Given the description of an element on the screen output the (x, y) to click on. 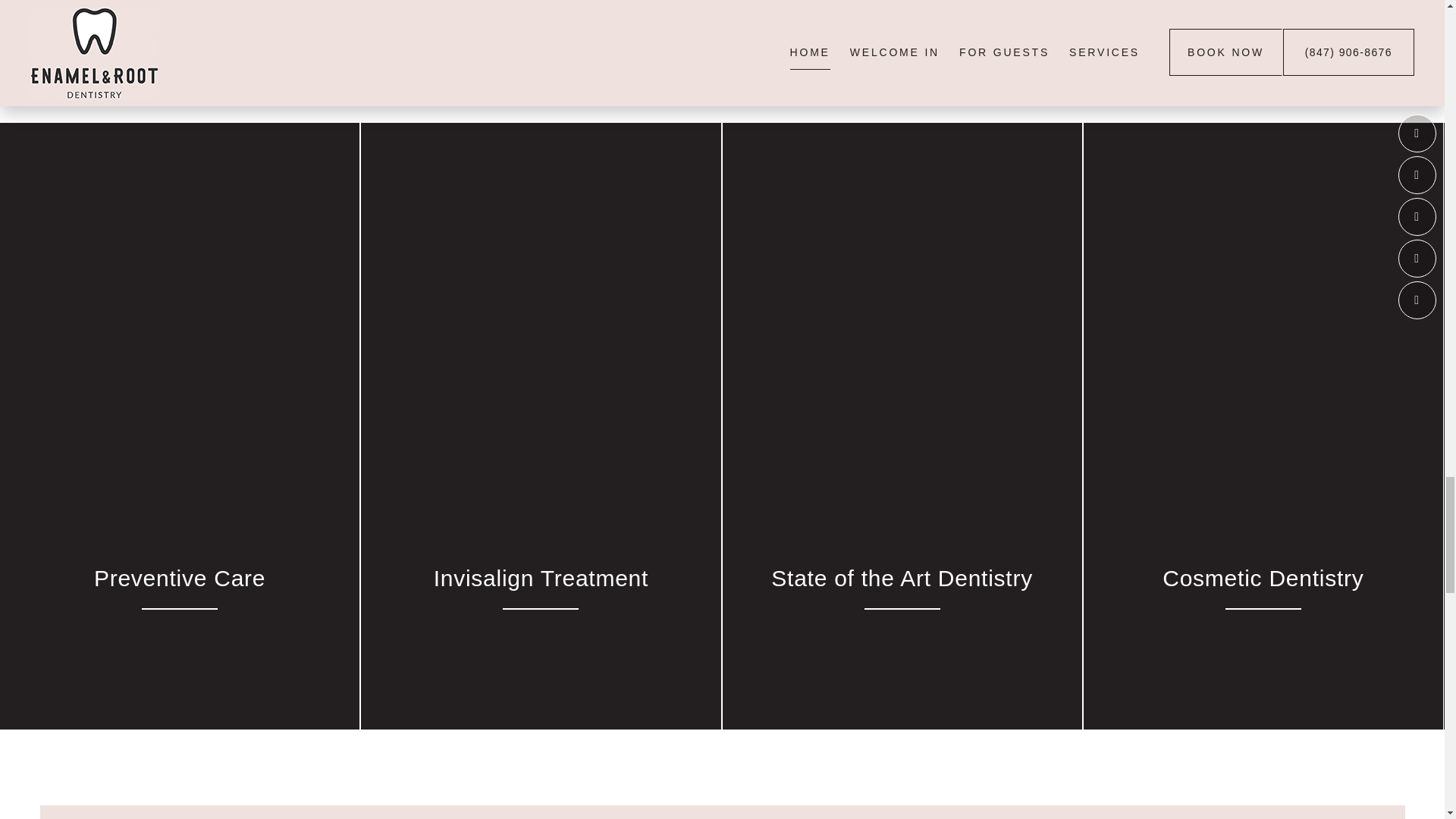
WHY CHOOSE US (425, 34)
TOUR OUR SPA OFFICE (722, 34)
DR. ALIA'S VIDEO TIPS (1017, 34)
